Given the description of an element on the screen output the (x, y) to click on. 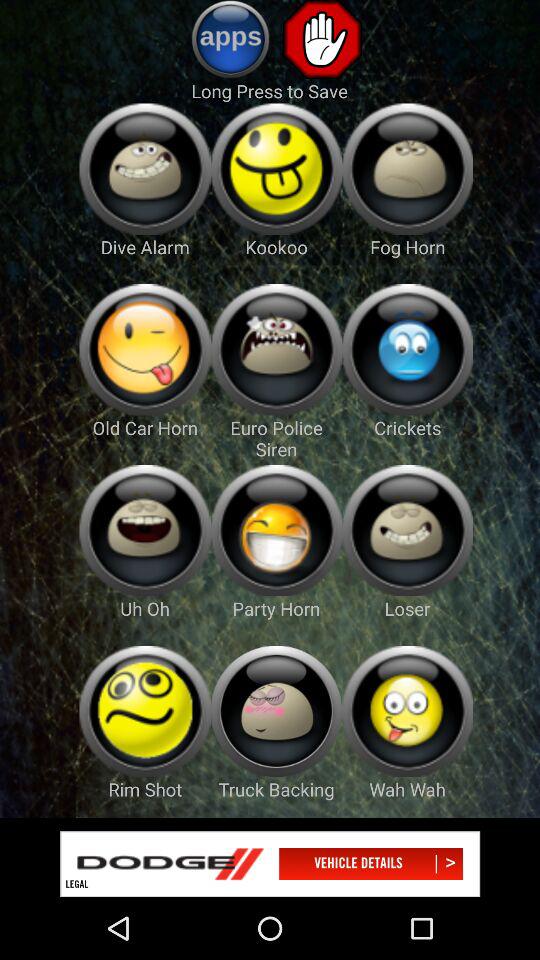
play sound (144, 168)
